Given the description of an element on the screen output the (x, y) to click on. 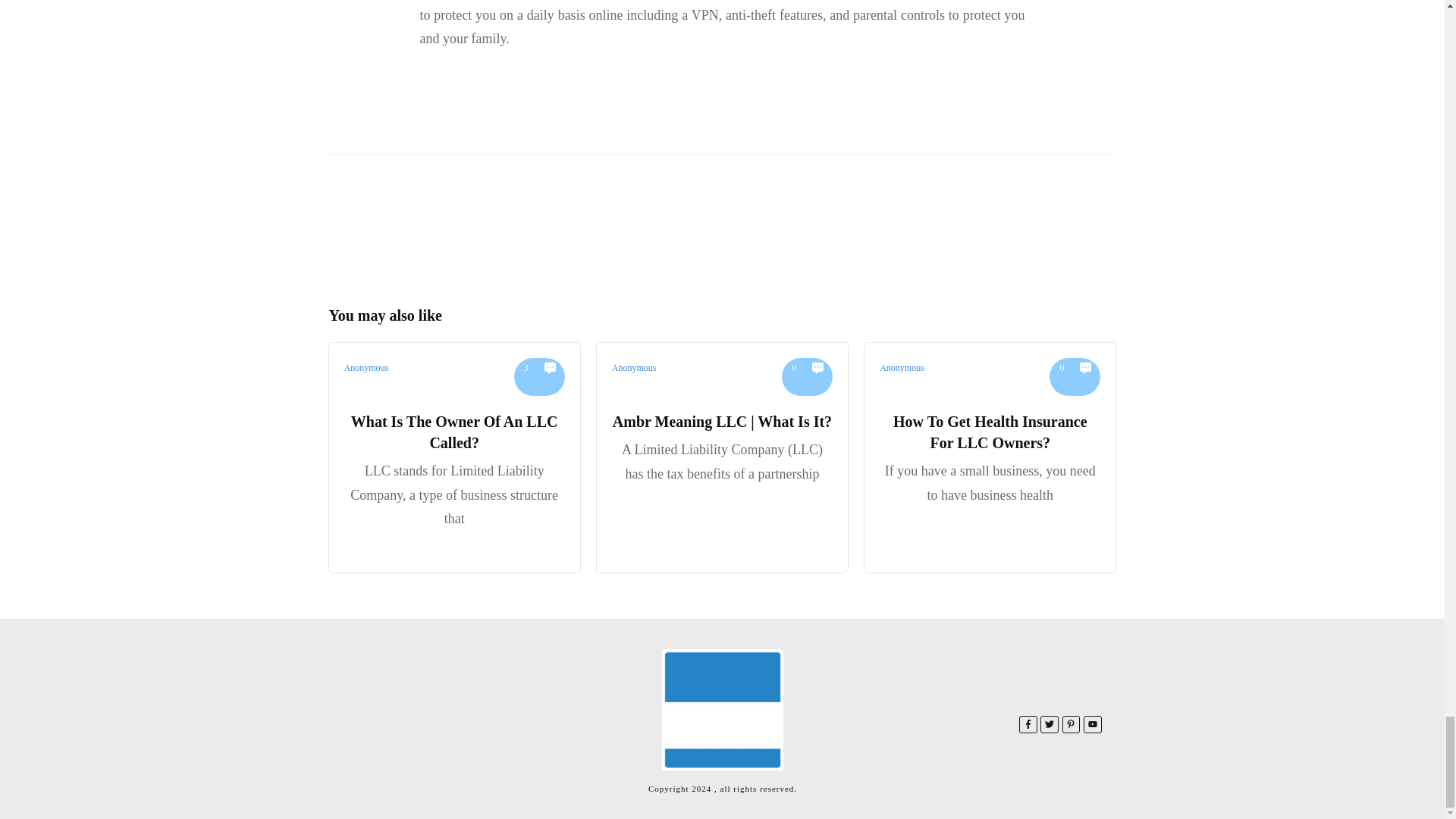
Anonymous (901, 367)
Anonymous (365, 367)
How To Get Health Insurance For LLC Owners? (990, 432)
What Is The Owner Of An LLC Called? (453, 432)
Anonymous (633, 367)
